Given the description of an element on the screen output the (x, y) to click on. 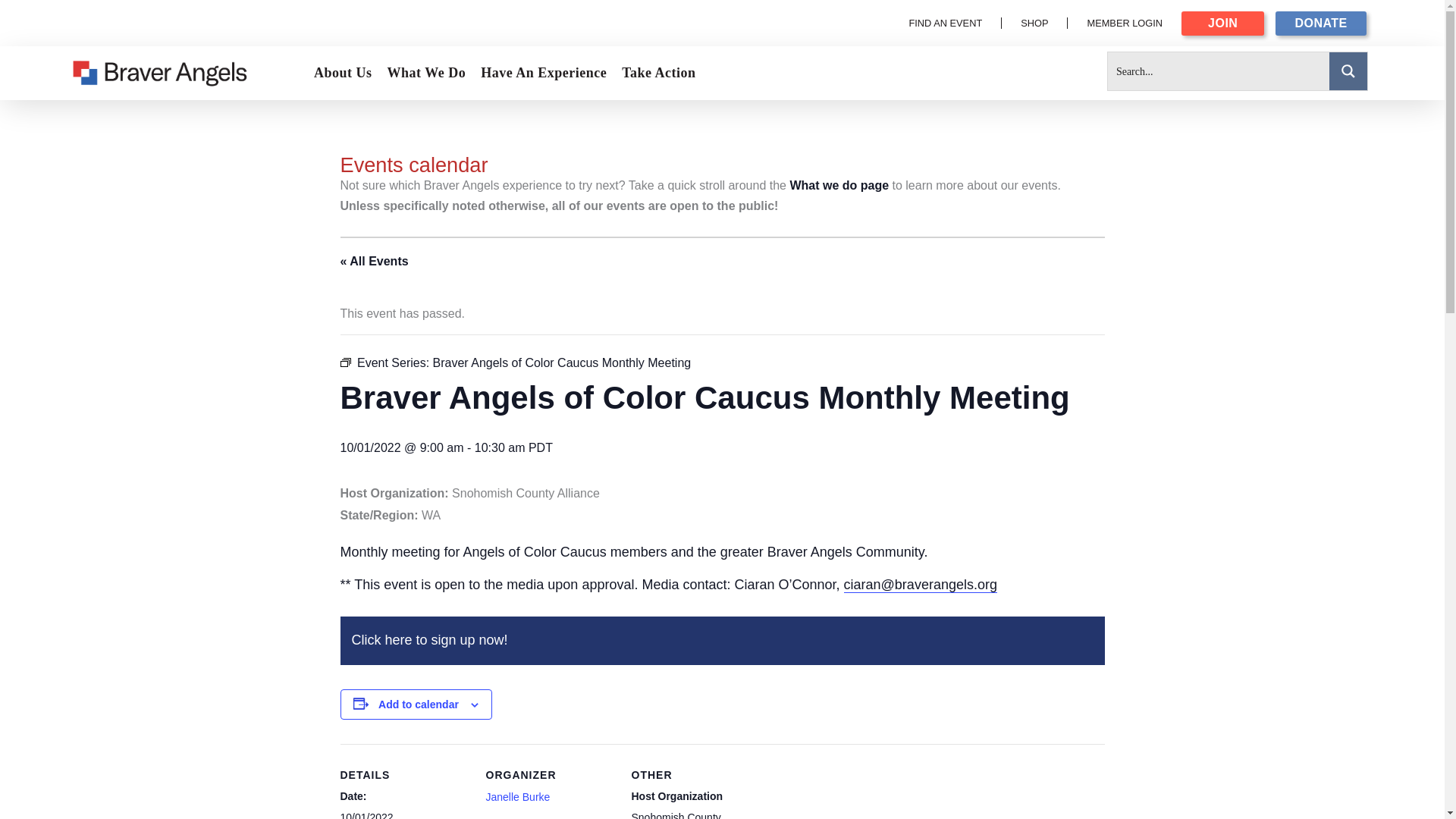
SHOP (1034, 22)
MEMBER LOGIN (1123, 22)
2022-10-01 (366, 815)
Janelle Burke (517, 797)
Event Series (344, 361)
JOIN (1221, 23)
DONATE (1320, 23)
FIND AN EVENT (945, 22)
